Given the description of an element on the screen output the (x, y) to click on. 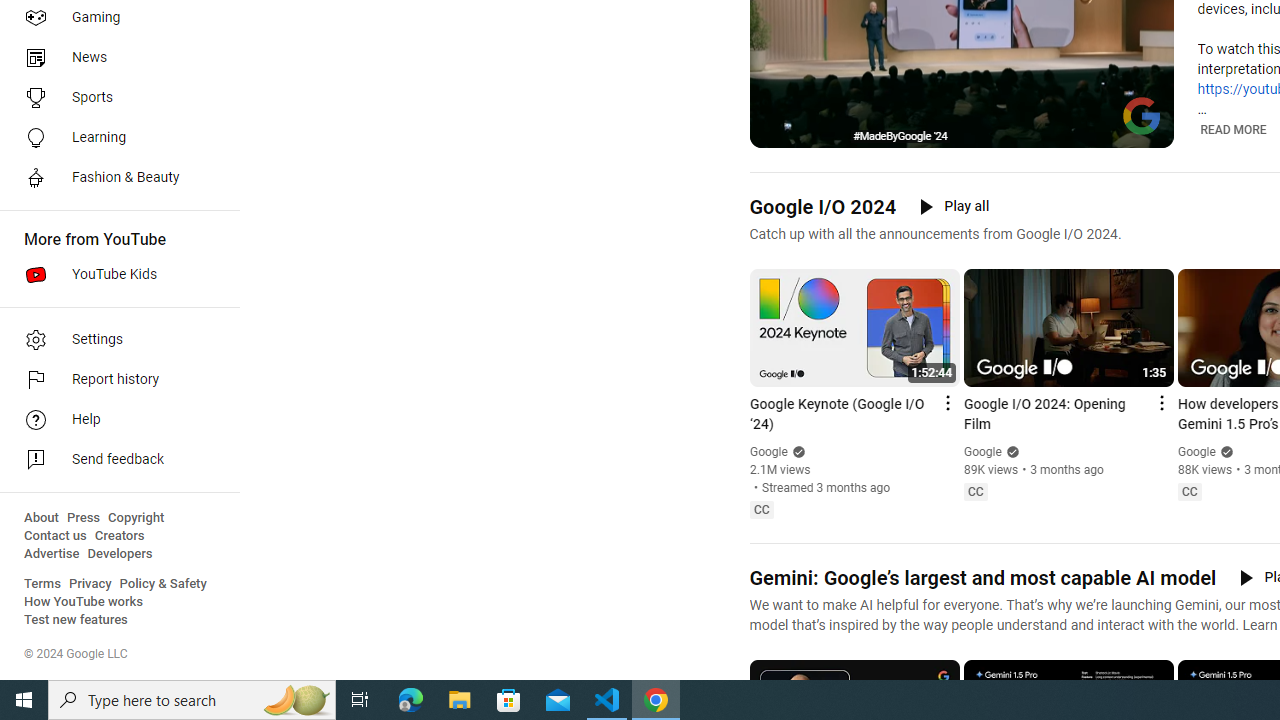
Creators (118, 536)
Google I/O 2024 (822, 206)
Subtitles/closed captions unavailable (1071, 130)
Developers (120, 554)
Sports (113, 97)
News (113, 57)
Channel watermark (1141, 115)
MadeByGoogle '24: Intro (985, 130)
Verified (1223, 451)
Advertise (51, 554)
Channel watermark (1141, 115)
Fashion & Beauty (113, 177)
